Given the description of an element on the screen output the (x, y) to click on. 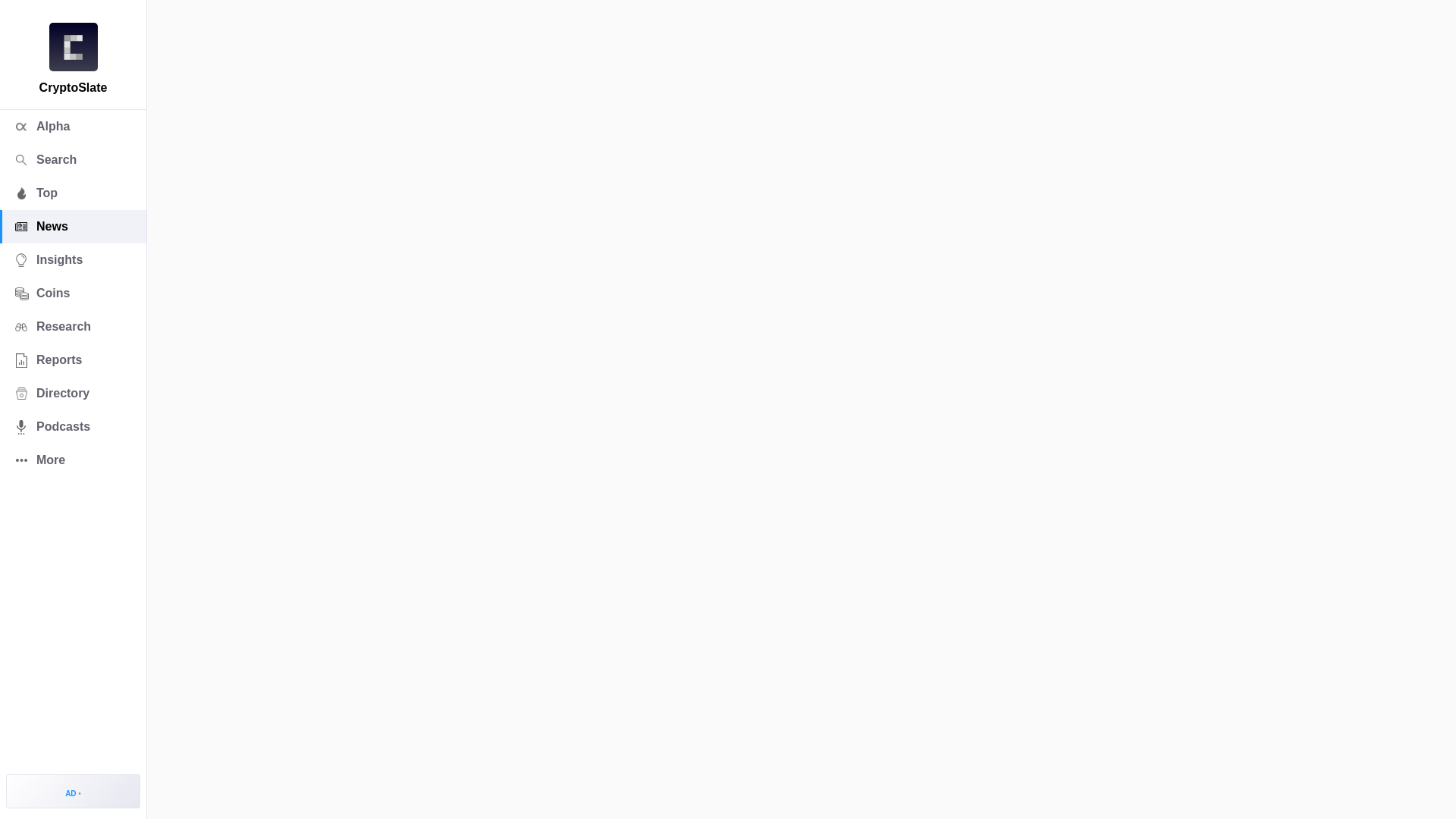
Alpha (73, 126)
Directory (73, 393)
Podcasts (73, 426)
Reports (73, 359)
Coins (73, 293)
 CryptoSlate (72, 46)
Insights (73, 259)
News (73, 226)
CryptoSlate (72, 46)
Research (73, 326)
Top (73, 192)
AD (72, 790)
